Given the description of an element on the screen output the (x, y) to click on. 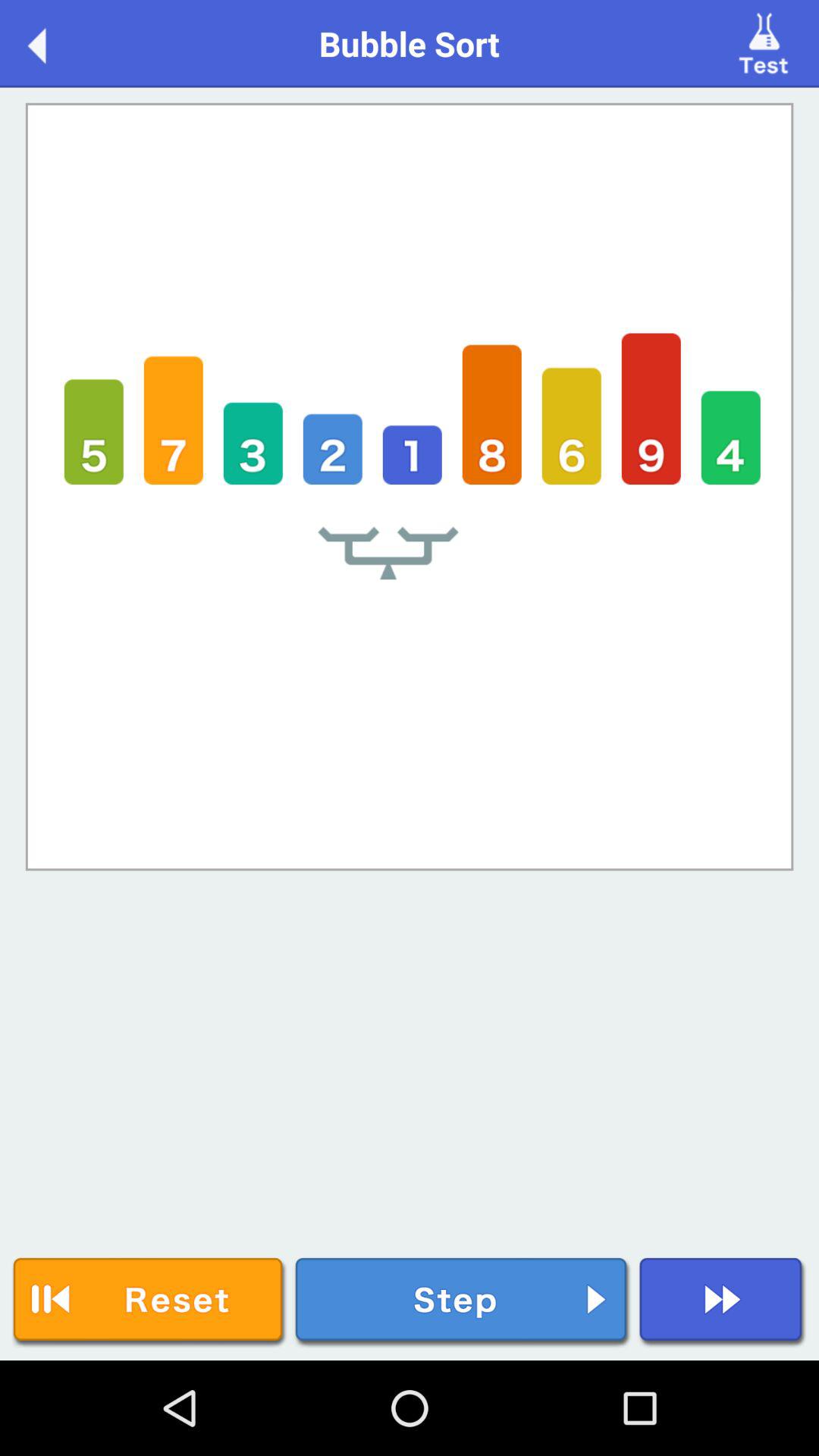
reset page (149, 1302)
